Given the description of an element on the screen output the (x, y) to click on. 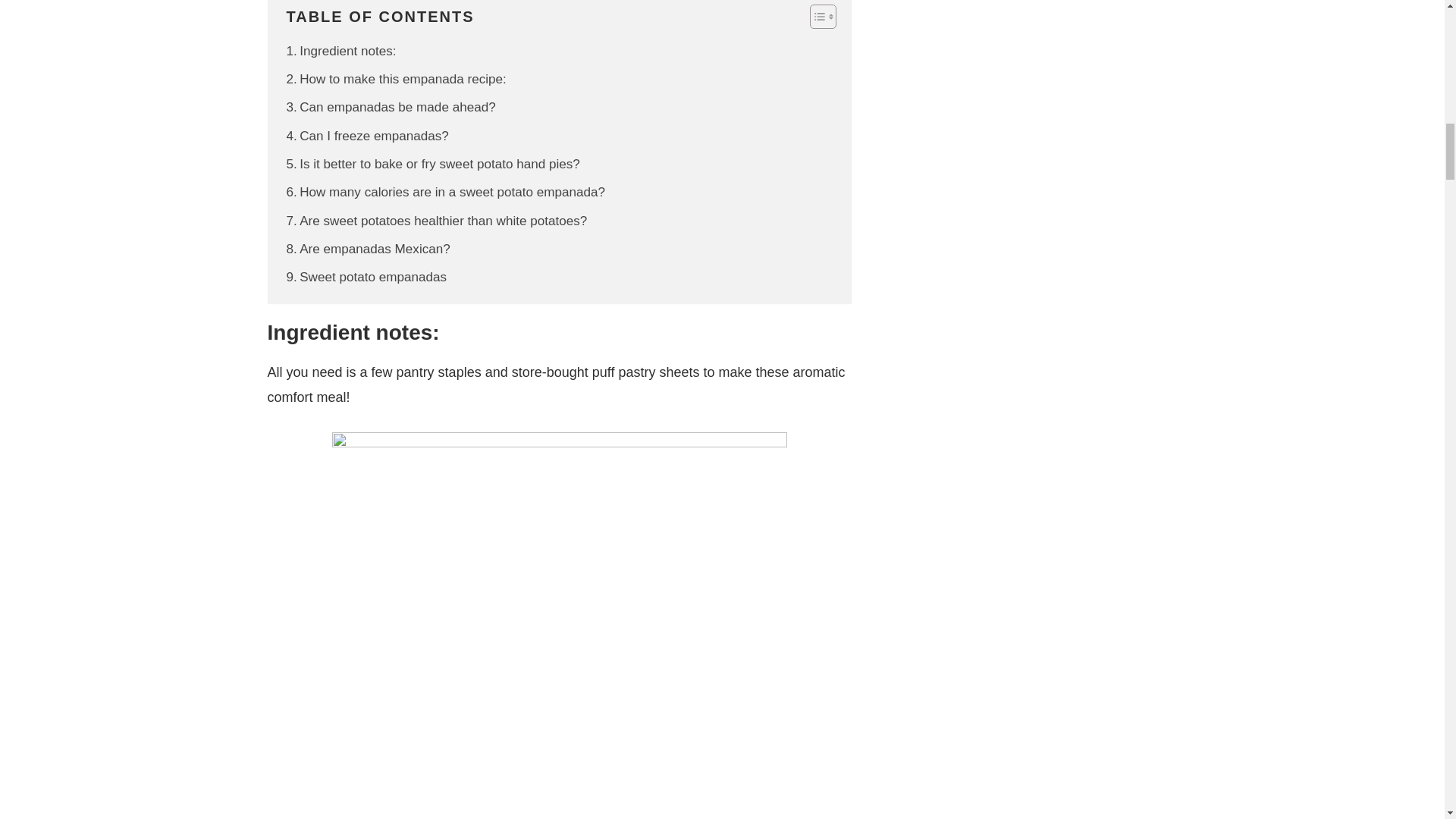
Can empanadas be made ahead? (391, 107)
Are empanadas Mexican? (367, 249)
Ingredient notes: (341, 50)
How many calories are in a sweet potato empanada? (445, 191)
Are sweet potatoes healthier than white potatoes? (437, 220)
Can I freeze empanadas? (367, 136)
How to make this empanada recipe: (396, 78)
Can I freeze empanadas? (367, 136)
Can empanadas be made ahead? (391, 107)
How many calories are in a sweet potato empanada? (445, 191)
